Given the description of an element on the screen output the (x, y) to click on. 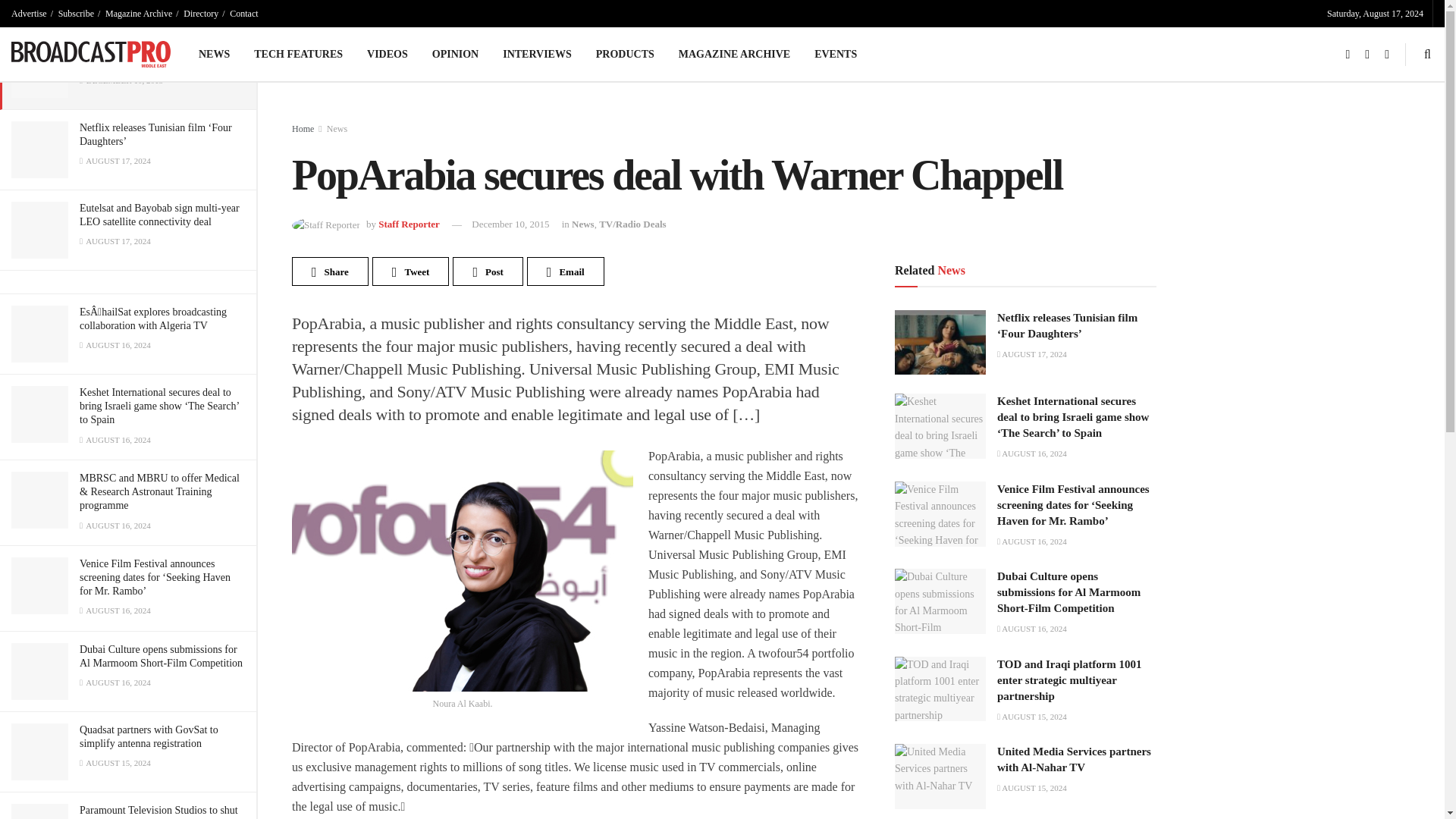
Magazine Archive (137, 13)
Contact (243, 13)
Directory (200, 13)
Subscribe (76, 13)
Advertise (28, 13)
PopArabia secures deal with Warner Chappell (157, 53)
Paramount Television Studios to shut down amid cost-cutting (159, 811)
